Given the description of an element on the screen output the (x, y) to click on. 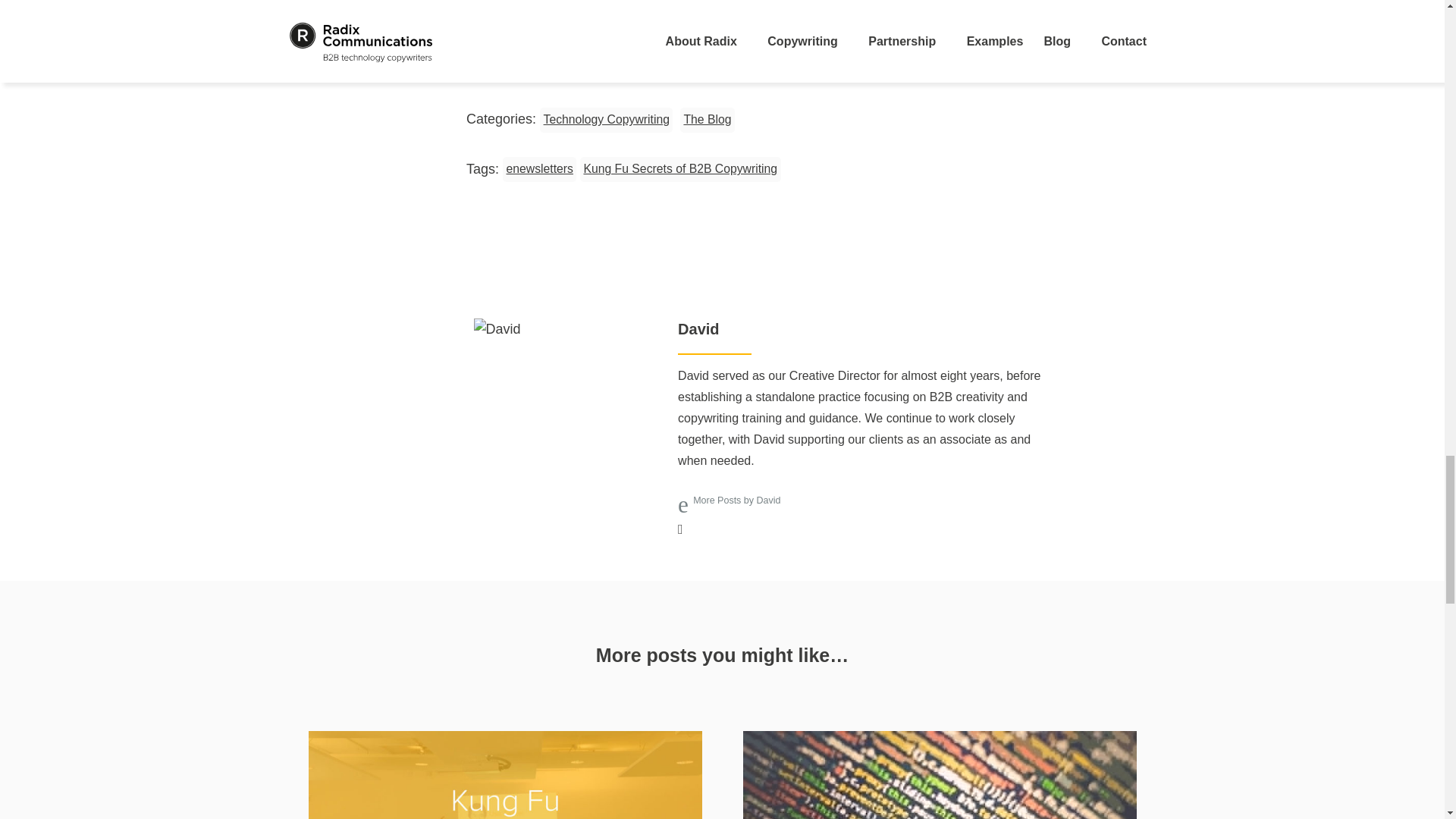
Kung Fu Copywriting playlist here (674, 64)
things grouped in threes will help your copy (710, 22)
Kung Fu Secrets of B2B Copywriting: Use Twitter (504, 775)
Technology Copywriting (606, 120)
The Blog (707, 120)
enewsletters (539, 169)
Chat bots: the next big opportunity for copywriters? (939, 775)
Kung Fu Secrets of B2B Copywriting (679, 169)
